Given the description of an element on the screen output the (x, y) to click on. 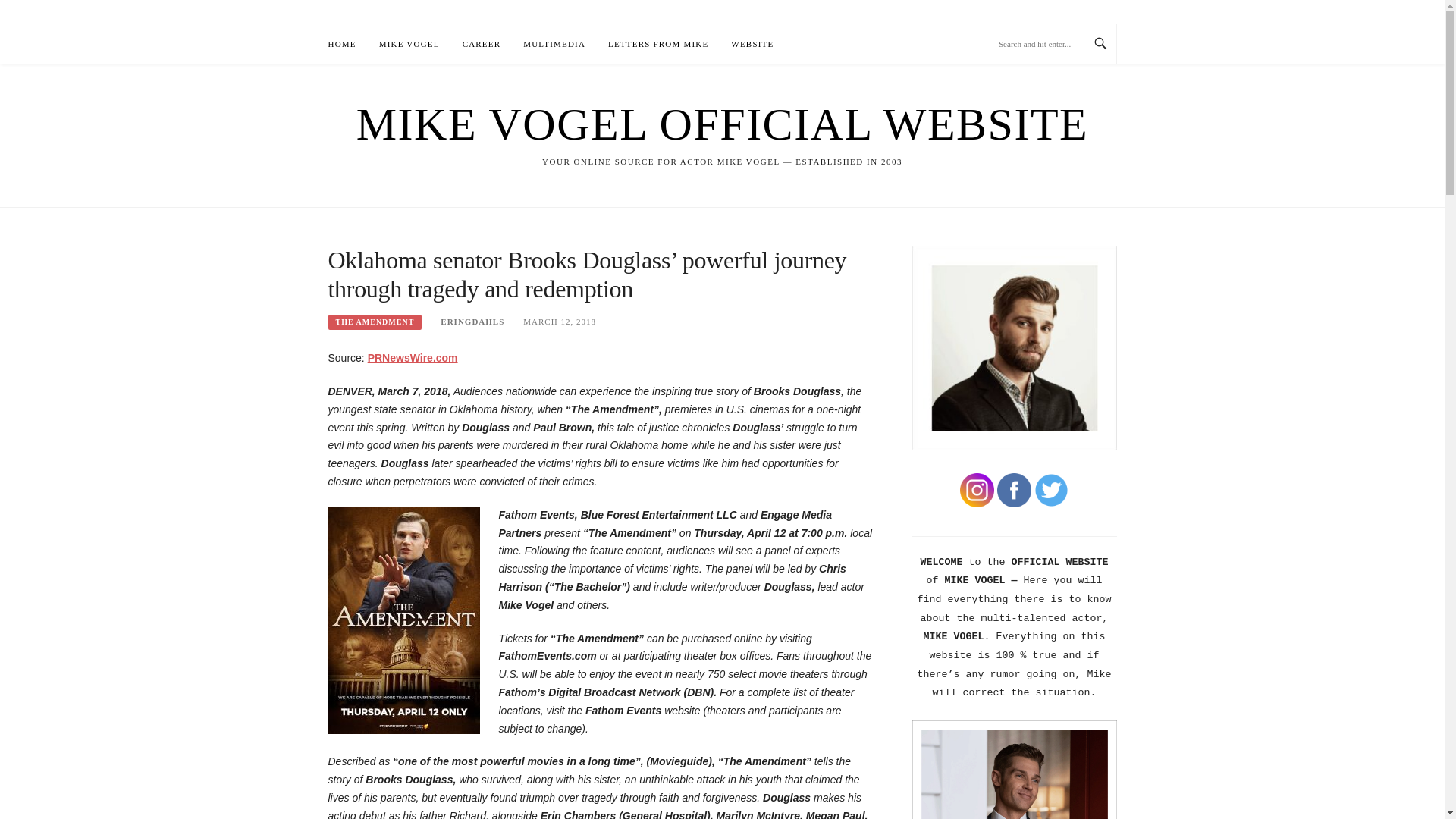
Follow us on Facebook! (1013, 489)
Follow Mike on Instagram! (976, 489)
PRNewsWire.com (413, 357)
WEBSITE (751, 43)
MULTIMEDIA (553, 43)
ERINGDAHLS (472, 320)
Follow Mike on Twitter! (1050, 489)
MIKE VOGEL (408, 43)
CAREER (481, 43)
MIKE VOGEL OFFICIAL WEBSITE (721, 124)
